Given the description of an element on the screen output the (x, y) to click on. 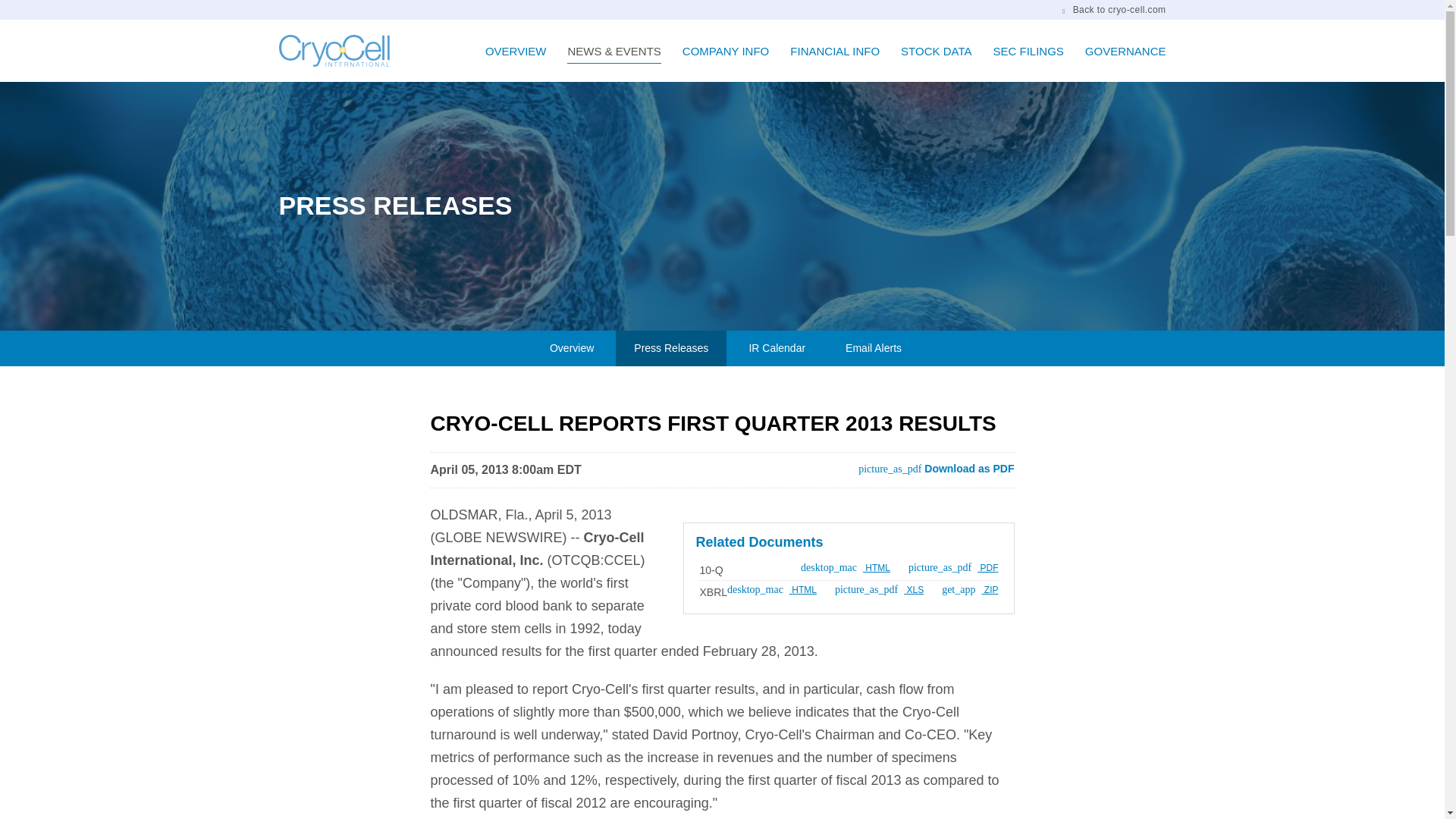
XBRL Viewer (712, 592)
10-Q Filing Viewer (844, 567)
STOCK DATA (935, 61)
Download Raw XBRL Files (969, 589)
FINANCIAL INFO (833, 61)
GOVERNANCE (1120, 61)
10-Q (953, 567)
10-Q Filing Viewer (710, 570)
XBRL Viewer (771, 589)
XBRL Spreadsheet (878, 589)
